Given the description of an element on the screen output the (x, y) to click on. 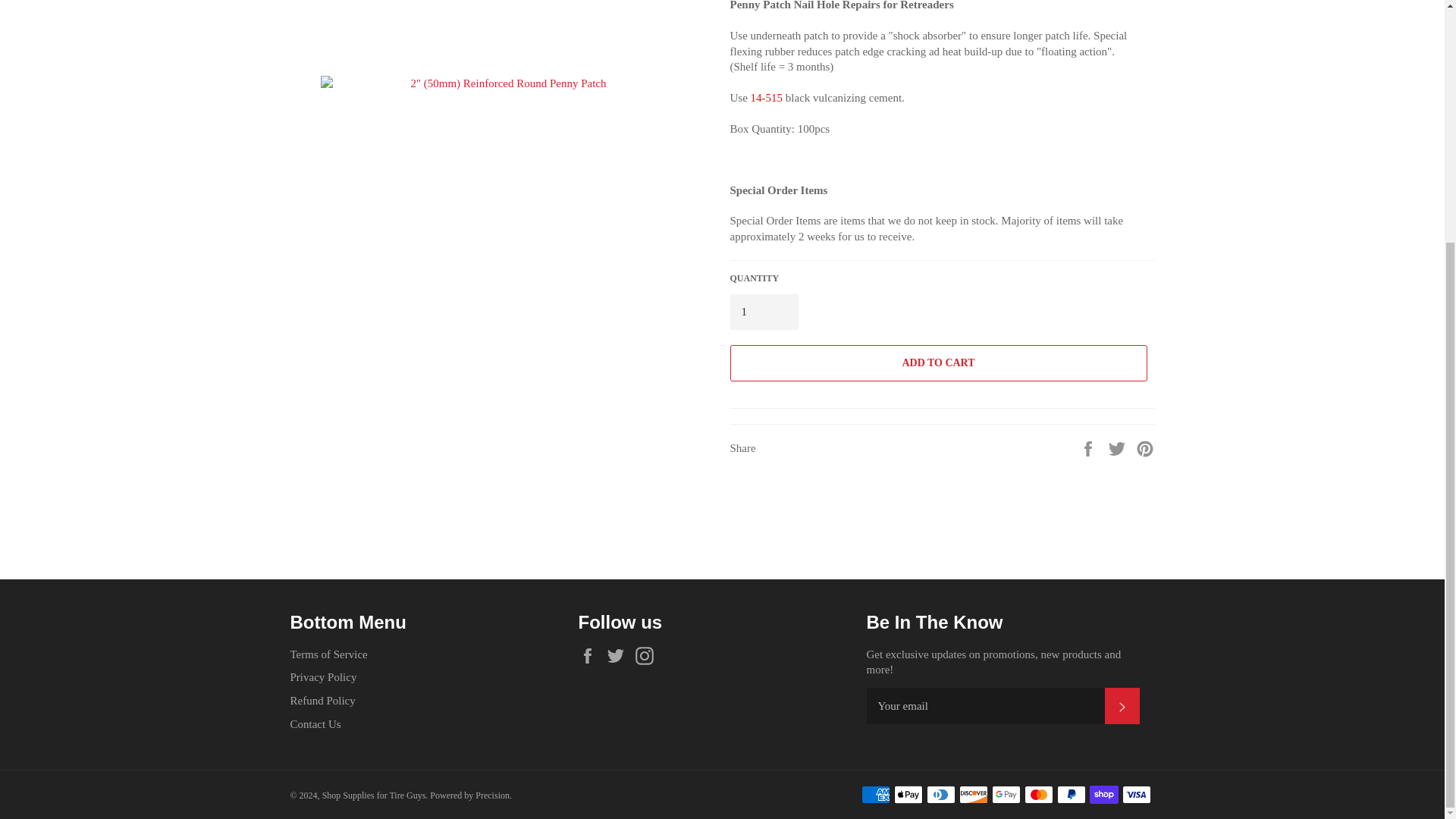
Share on Facebook (1089, 447)
Mastercard (1037, 794)
Powered by Precision. (470, 795)
Facebook (591, 656)
Google Pay (1005, 794)
Shop Pay (1103, 794)
Diners Club (940, 794)
Tweet on Twitter (1118, 447)
Twitter (619, 656)
American Express (875, 794)
